Given the description of an element on the screen output the (x, y) to click on. 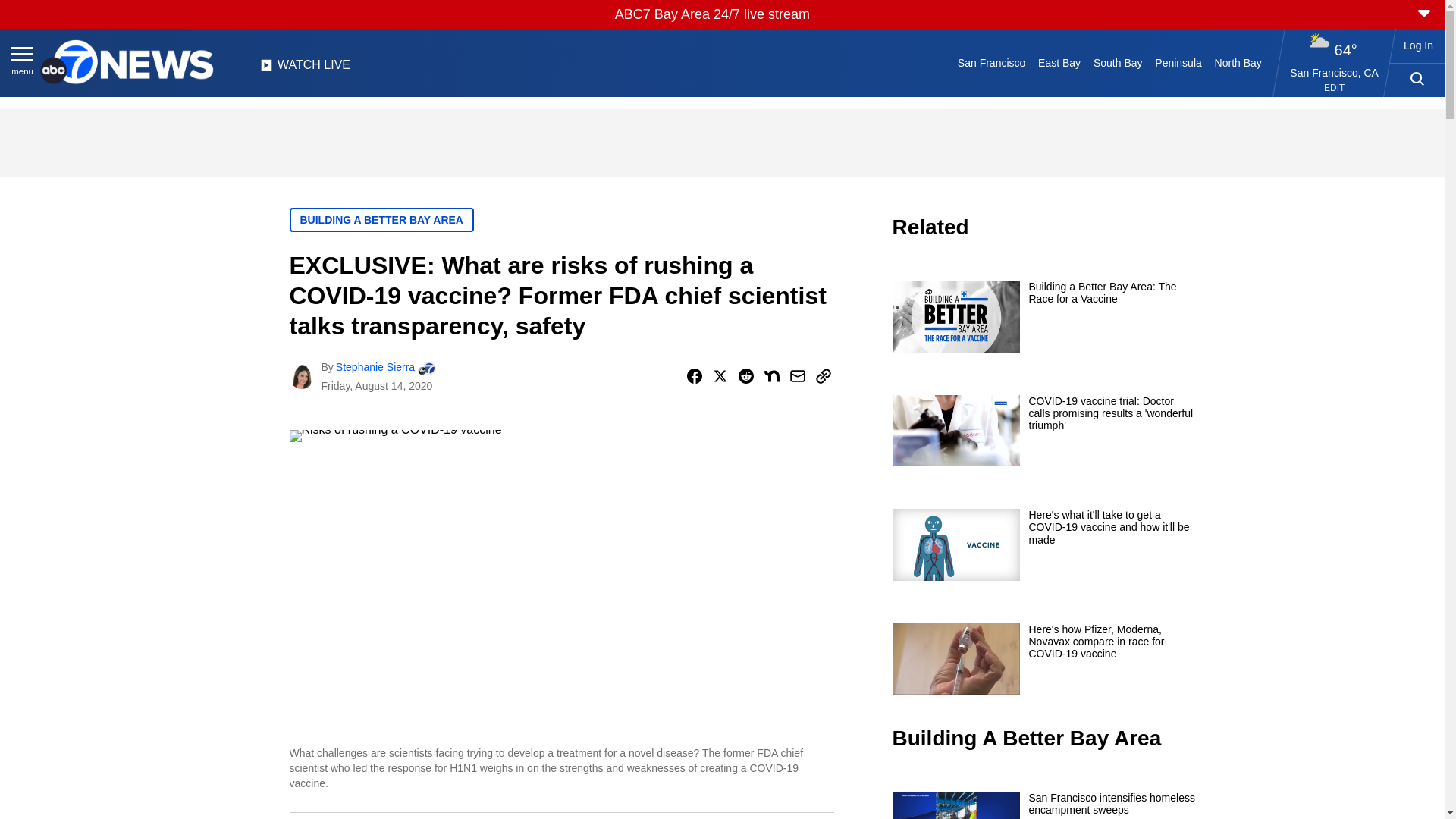
San Francisco (990, 62)
North Bay (1238, 62)
San Francisco, CA (1334, 72)
Peninsula (1178, 62)
East Bay (1059, 62)
South Bay (1117, 62)
WATCH LIVE (305, 69)
EDIT (1333, 87)
